Given the description of an element on the screen output the (x, y) to click on. 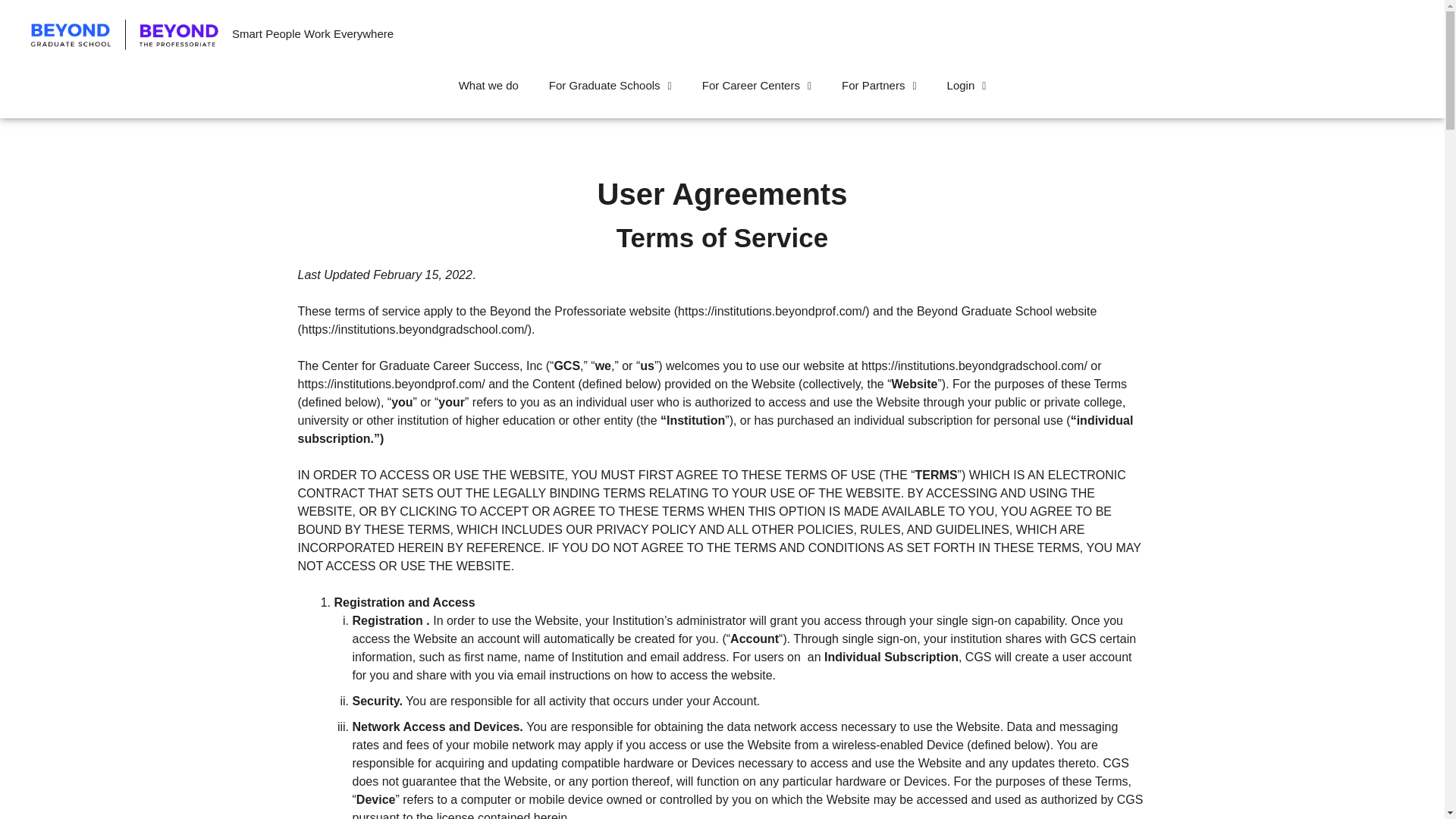
What we do (489, 85)
For Partners (879, 85)
For Graduate Schools (610, 85)
Login (966, 85)
For Career Centers (757, 85)
